Given the description of an element on the screen output the (x, y) to click on. 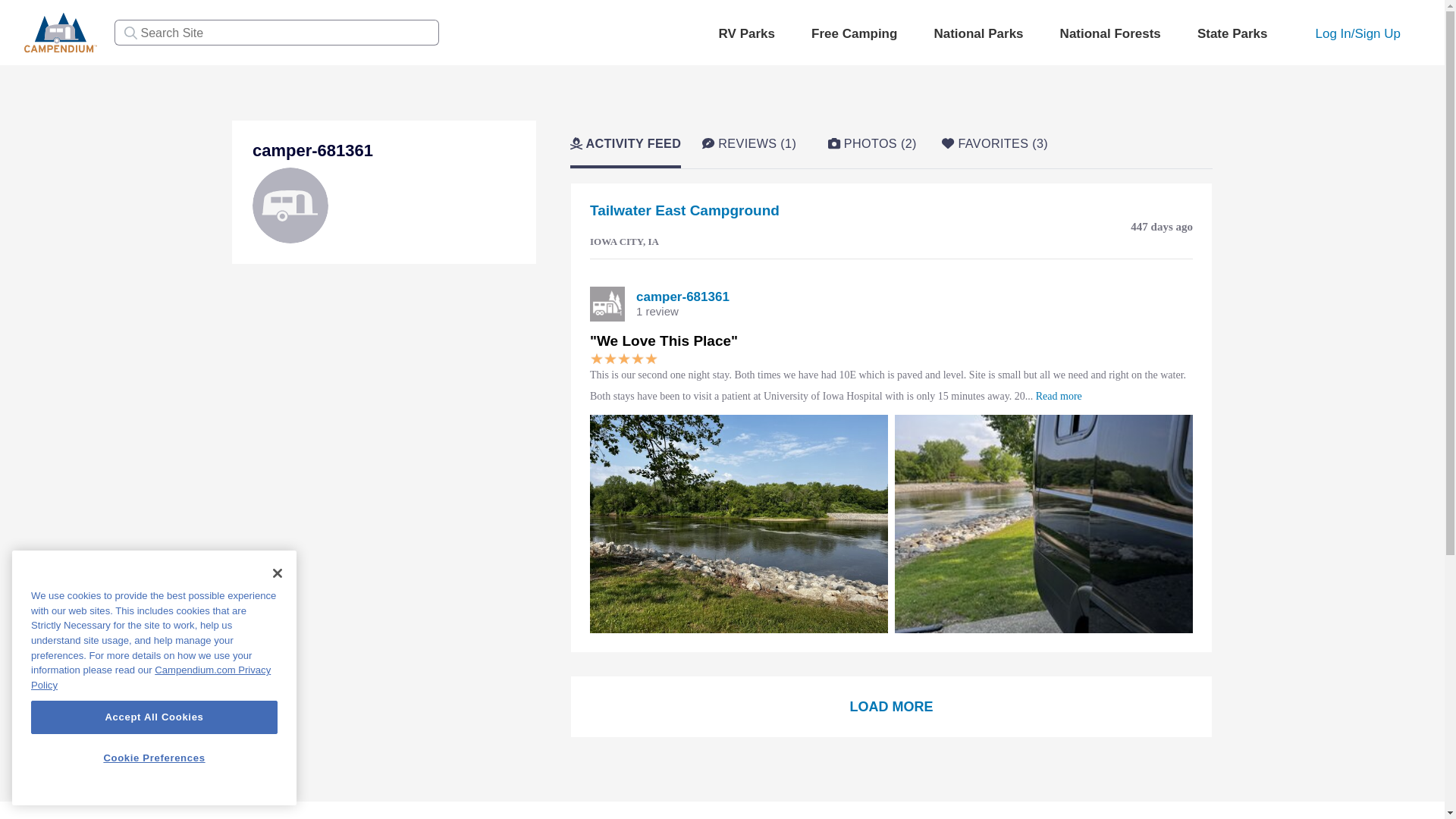
Free Camping (853, 34)
Campendium Homepage (60, 31)
RV Parks (746, 34)
LOAD MORE (891, 706)
